Given the description of an element on the screen output the (x, y) to click on. 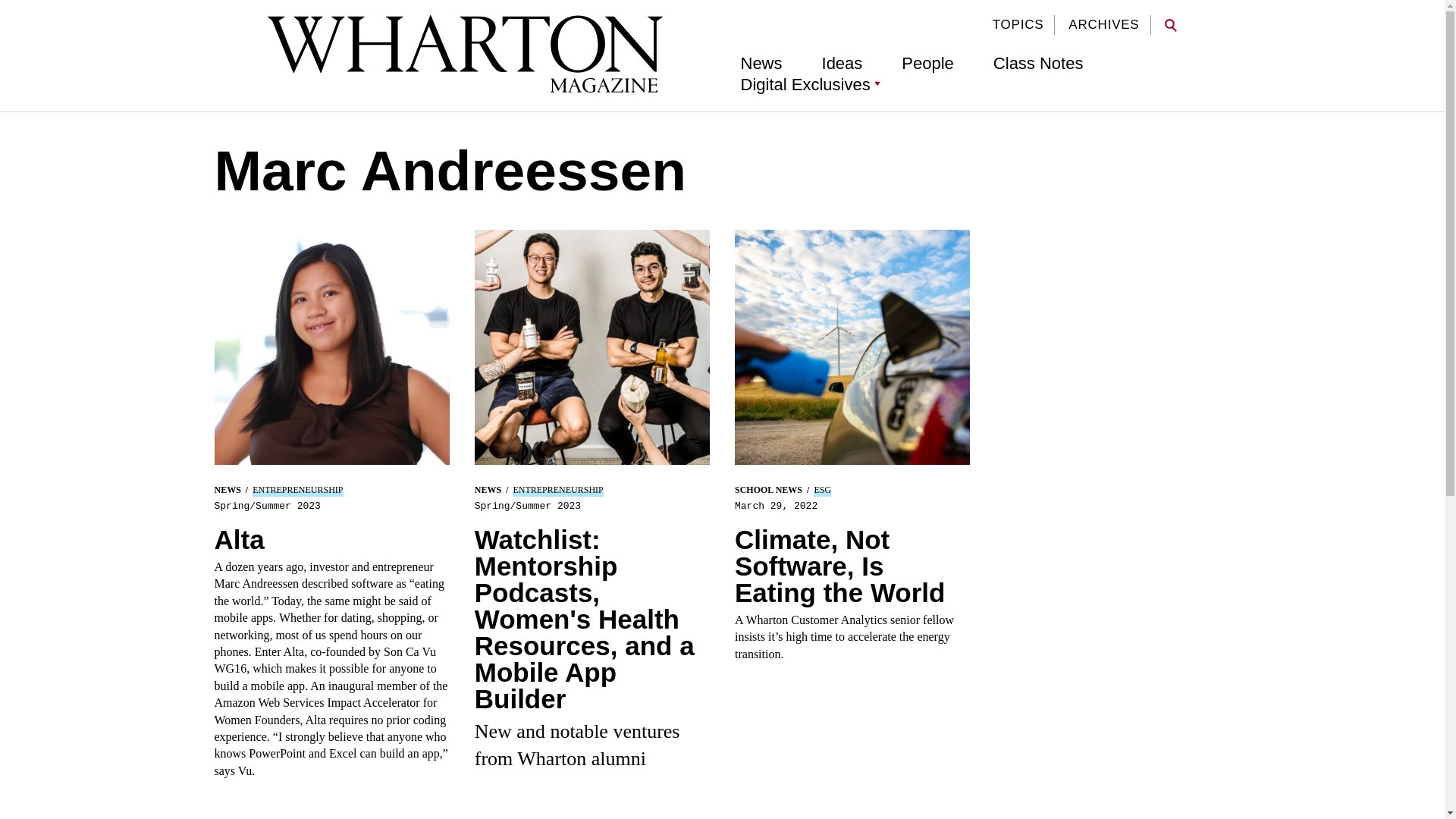
TOPICS (1017, 24)
ARCHIVES (1103, 24)
News (760, 63)
People (927, 63)
ESG (822, 490)
Ideas (842, 63)
ENTREPRENEURSHIP (296, 490)
ENTREPRENEURSHIP (557, 490)
Class Notes (1037, 63)
